Given the description of an element on the screen output the (x, y) to click on. 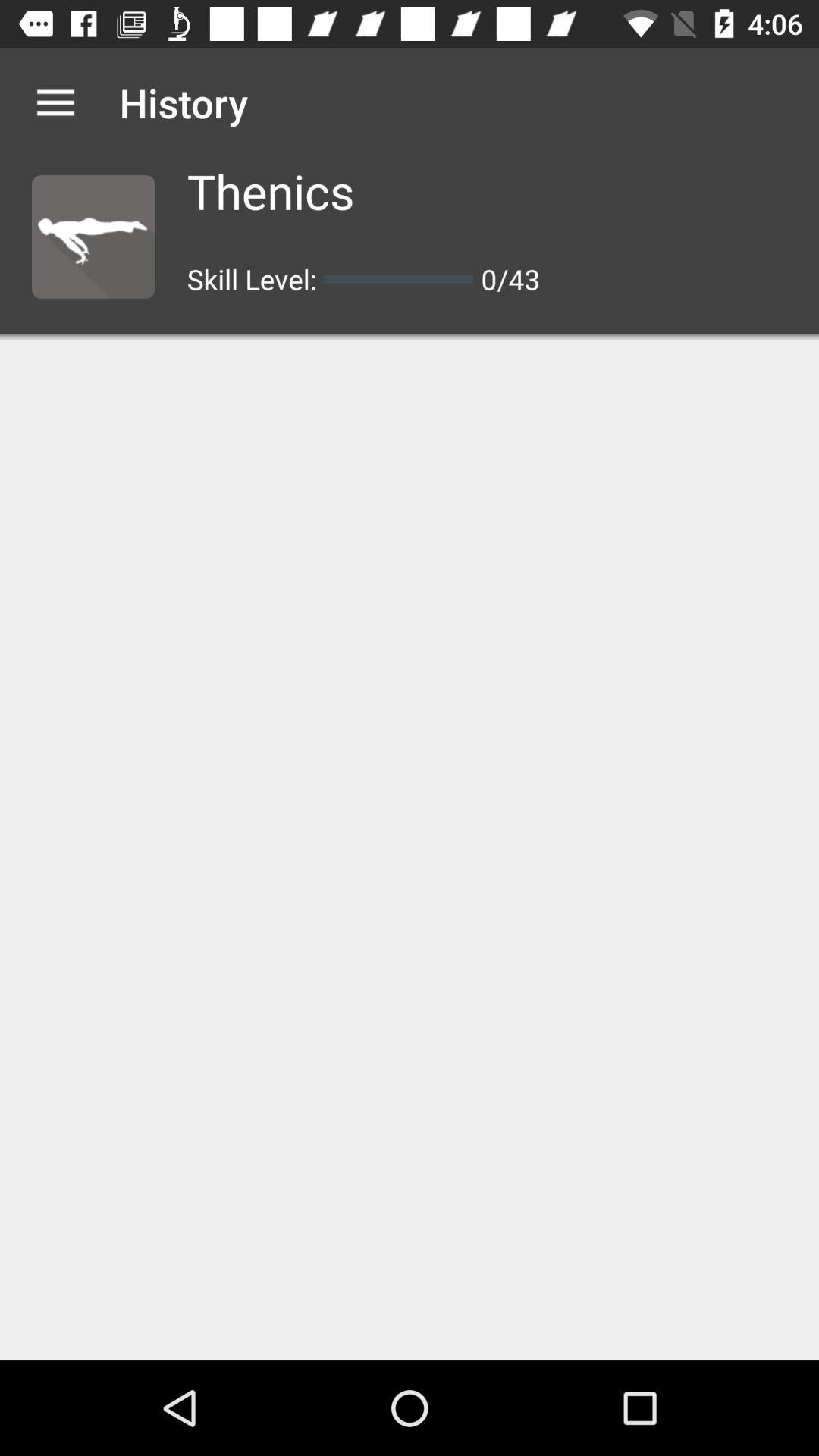
open the app to the left of the history (55, 102)
